Given the description of an element on the screen output the (x, y) to click on. 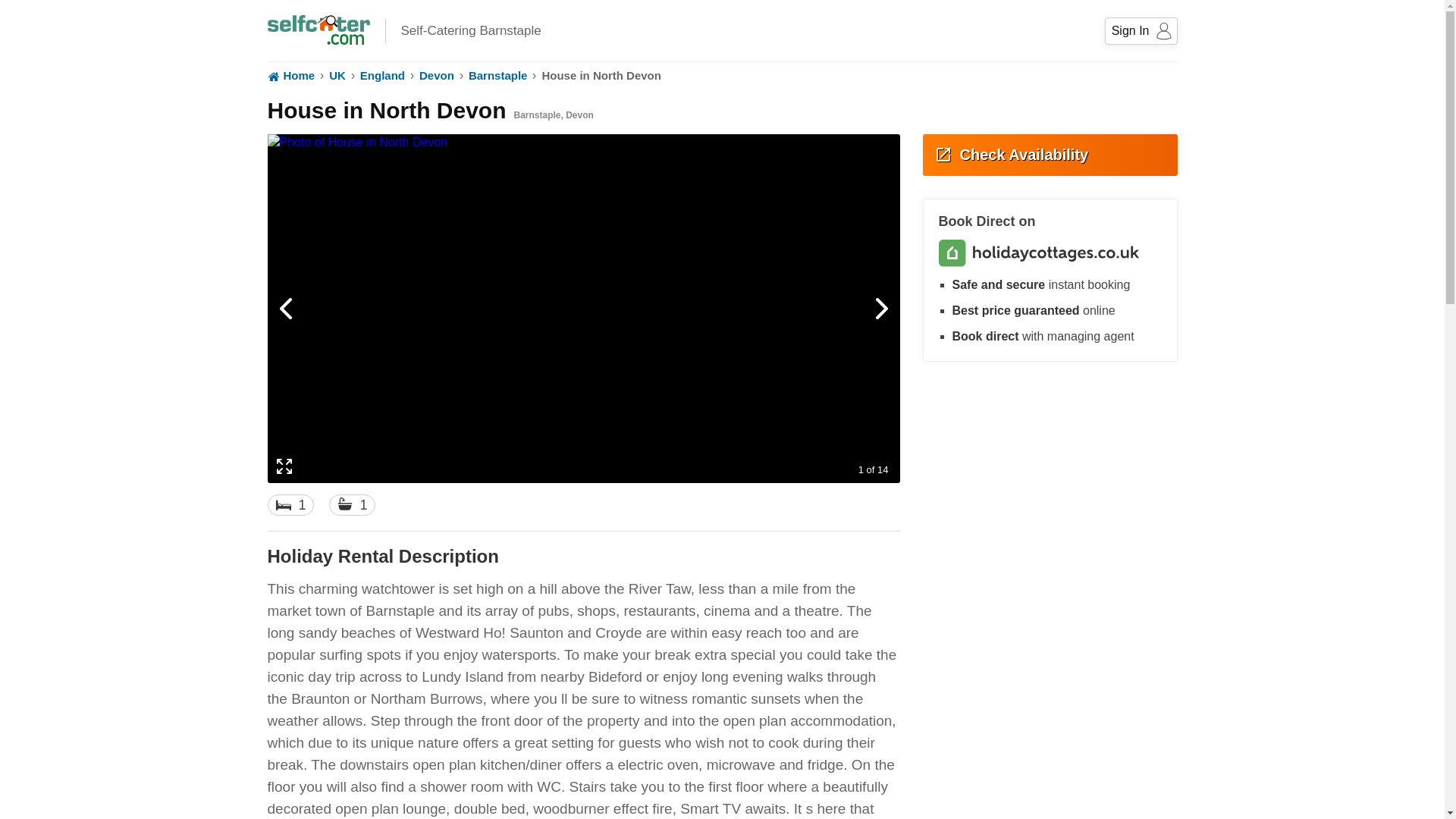
Barnstaple (497, 75)
Check Availability (1048, 155)
Devon (436, 75)
Holiday Rentals Devon (721, 75)
Holiday Rentals Barnstaple (436, 75)
Sign In (497, 75)
Holiday Rentals United Kingdom (1141, 31)
Self Catering Holiday Cottages (337, 75)
England (317, 25)
Holiday Rentals Home (381, 75)
Home (290, 75)
Holiday Rentals England (290, 75)
UK (381, 75)
